Given the description of an element on the screen output the (x, y) to click on. 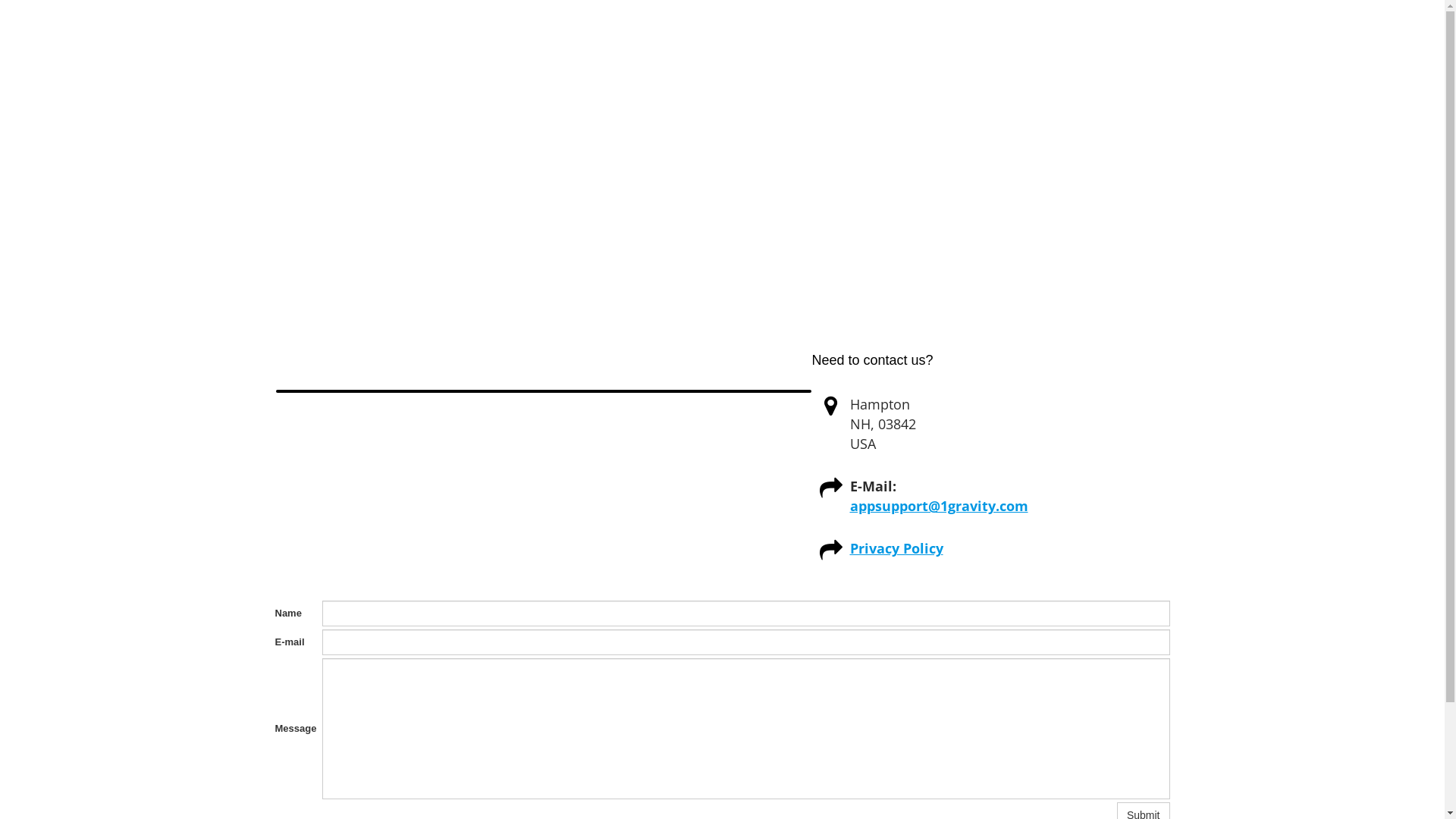
Privacy Policy Element type: text (895, 548)
ABOUT Element type: text (884, 36)
appsupport@1gravity.com Element type: text (938, 505)
HOME Element type: text (818, 36)
PUZZLES Element type: text (1033, 36)
CONTACTS Element type: text (1117, 37)
GET APP Element type: text (956, 36)
